Given the description of an element on the screen output the (x, y) to click on. 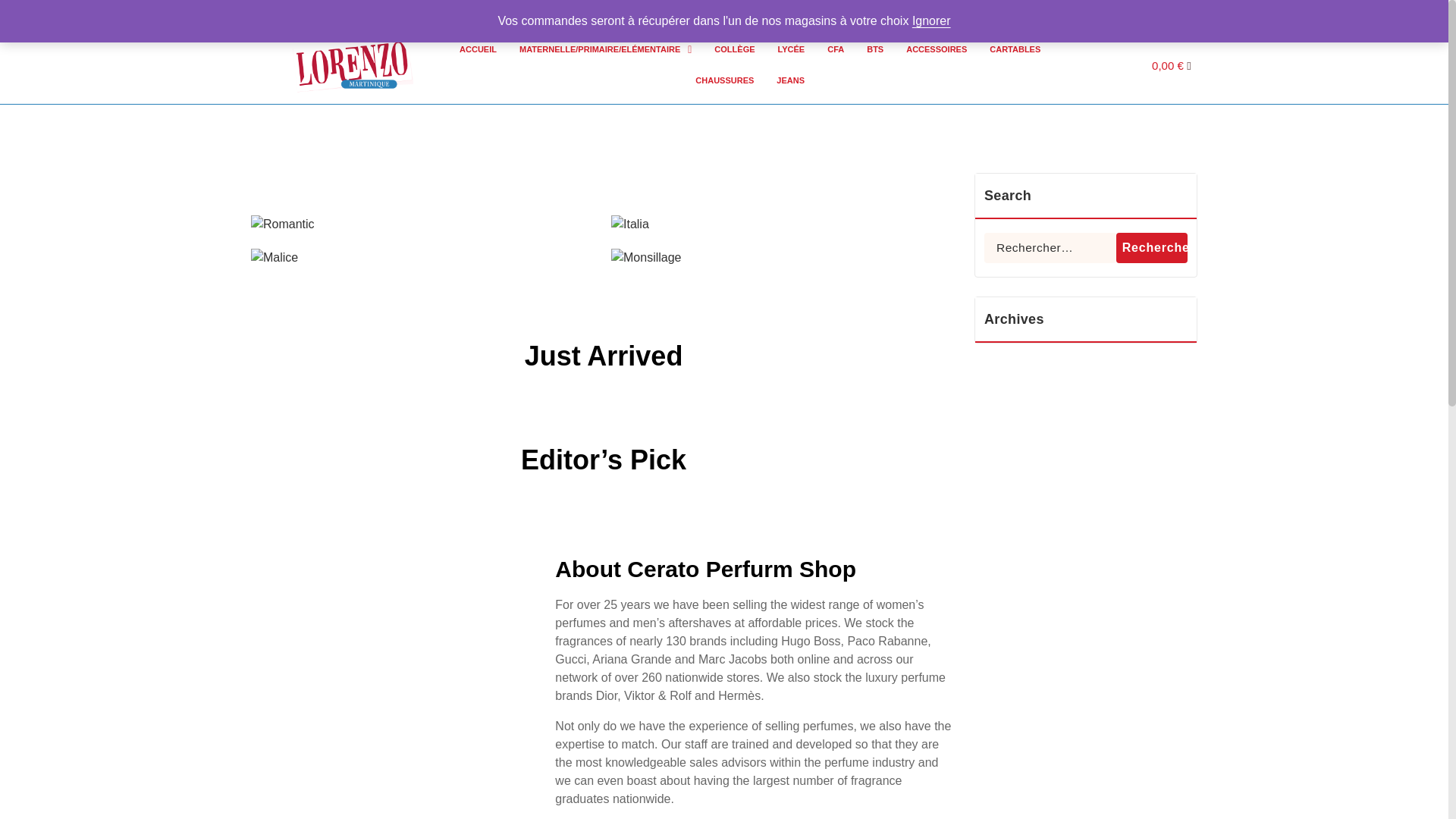
Contact (1118, 12)
CFA (835, 49)
ACCUEIL (478, 49)
BTS (875, 49)
Ignorer (931, 20)
Rechercher (1152, 247)
Rechercher (1152, 247)
CHAUSSURES (724, 80)
CARTABLES (1014, 49)
JEANS (790, 80)
Rechercher (1152, 247)
ACCESSOIRES (936, 49)
